Given the description of an element on the screen output the (x, y) to click on. 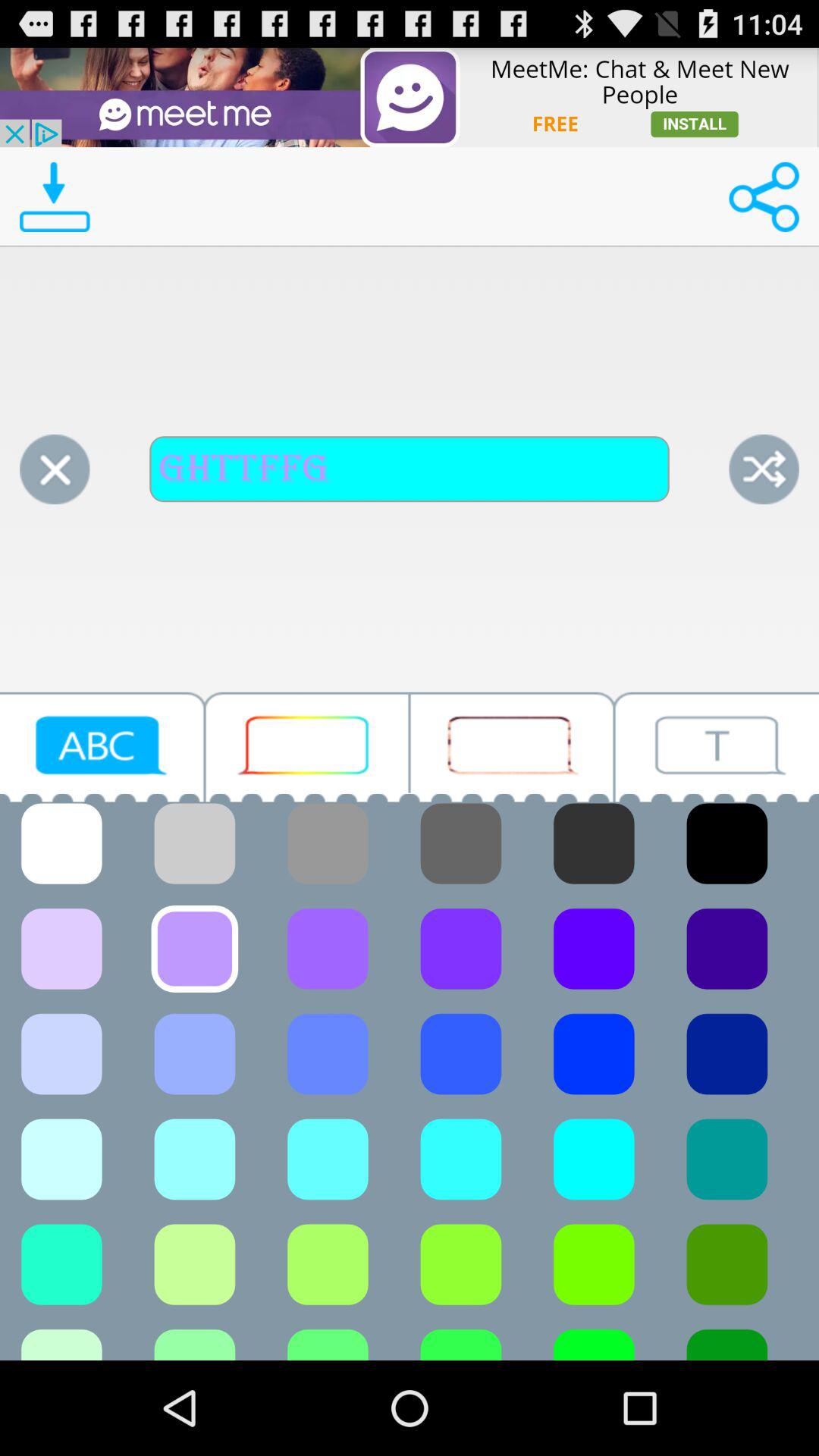
open text options (716, 746)
